Given the description of an element on the screen output the (x, y) to click on. 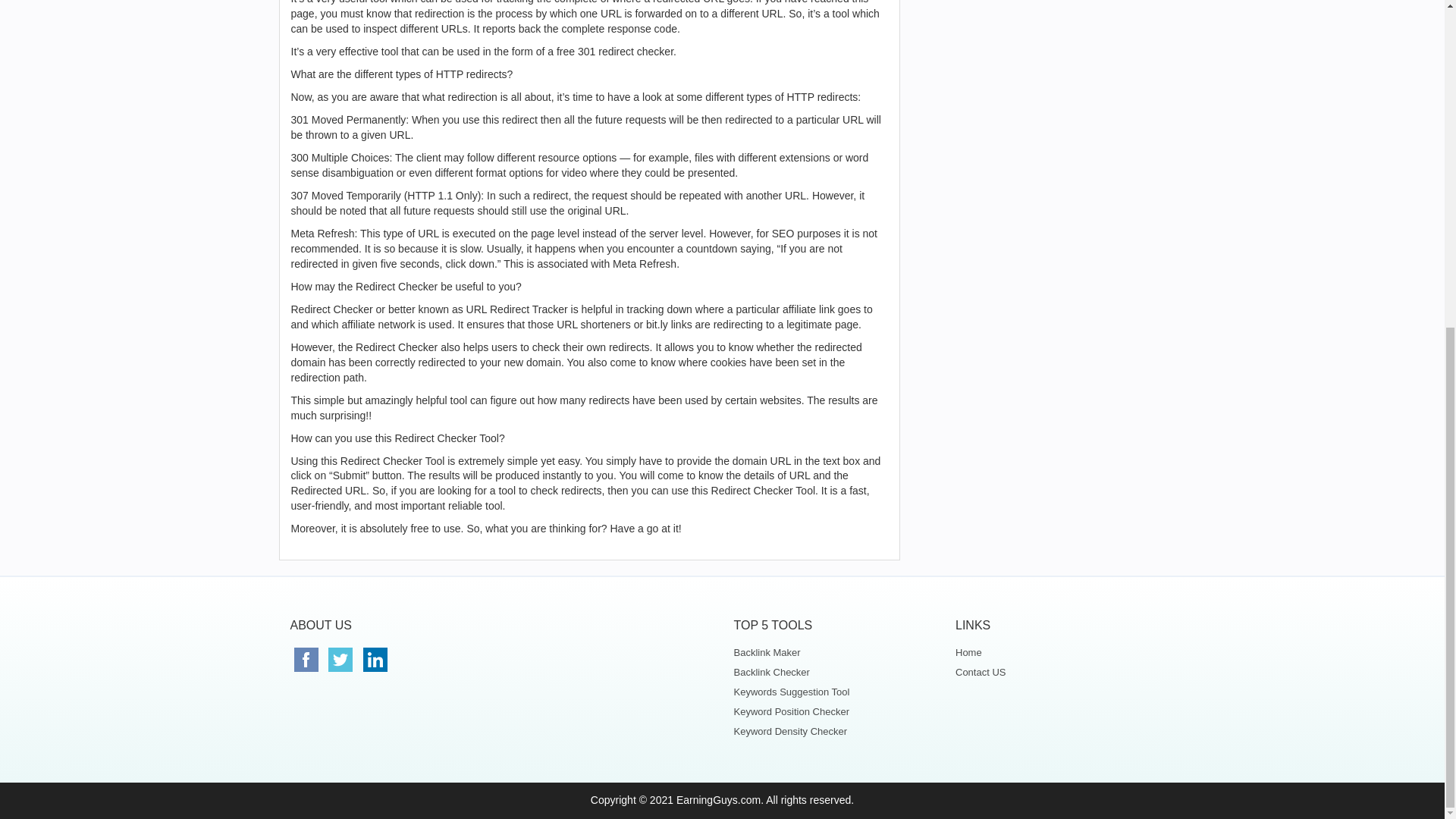
Keywords Suggestion Tool (833, 692)
Backlink Checker (833, 672)
Keyword Position Checker (833, 711)
Keyword Density Checker (833, 731)
Contact US (1054, 672)
Backlink Maker (833, 652)
Home (1054, 652)
